Given the description of an element on the screen output the (x, y) to click on. 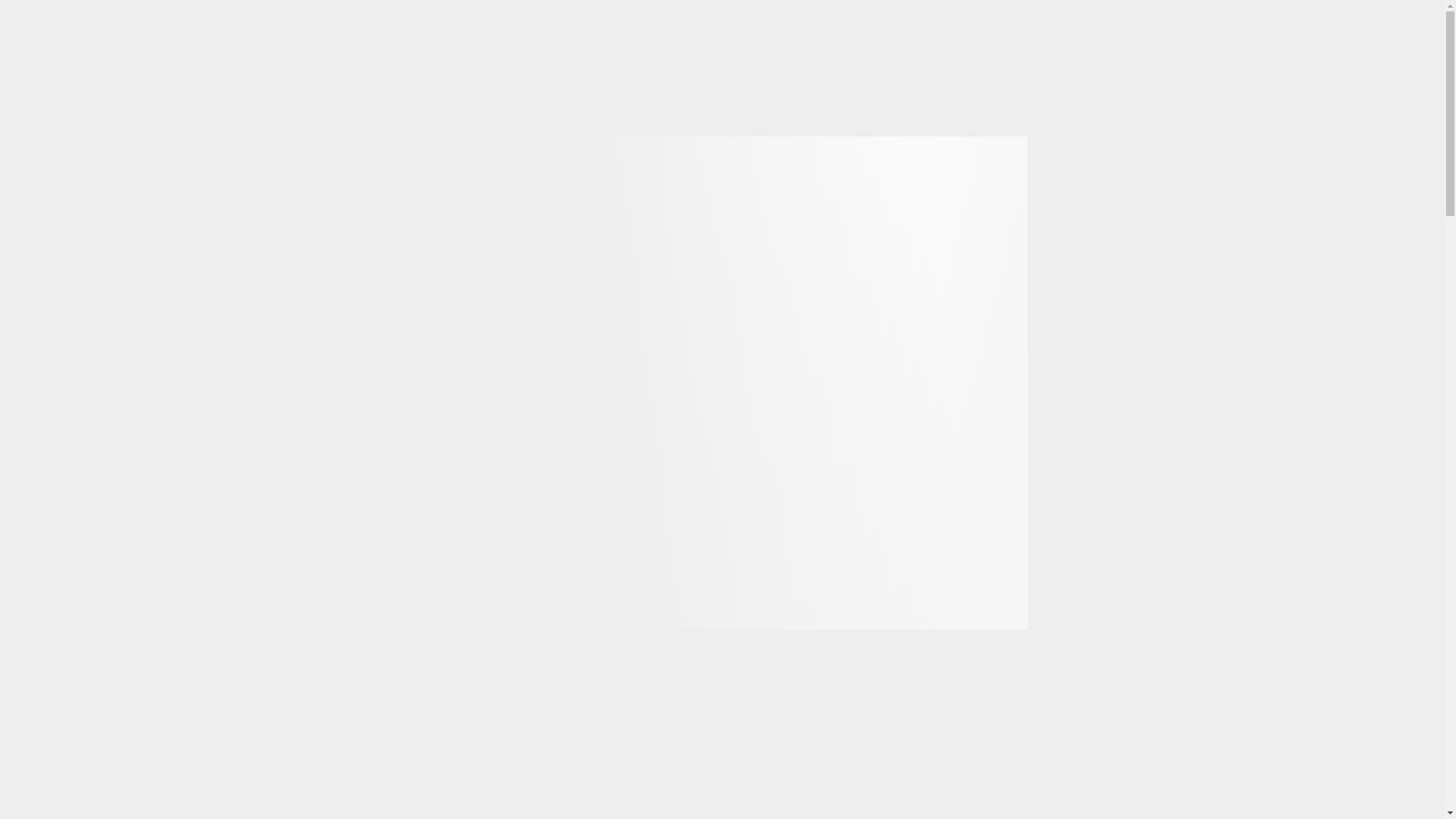
Payment Plans (908, 112)
Specials (1108, 112)
Book Now (700, 112)
